Given the description of an element on the screen output the (x, y) to click on. 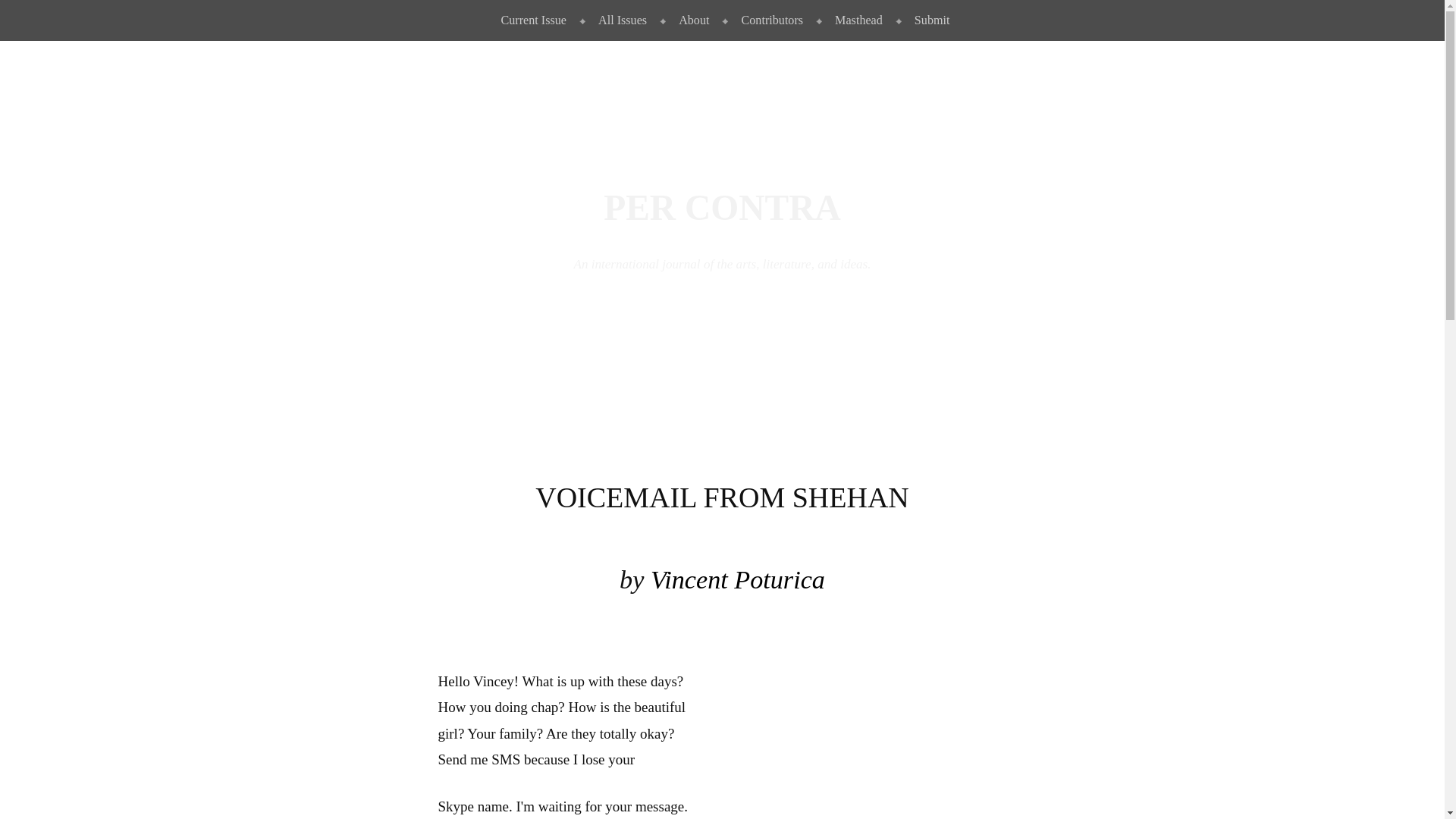
Current Issue (530, 20)
All Issues (619, 20)
Submit (928, 20)
Skip to content (37, 11)
Skip to content (37, 11)
Search (34, 16)
Per Contra (722, 207)
Contributors (768, 20)
About (690, 20)
Masthead (855, 20)
